Given the description of an element on the screen output the (x, y) to click on. 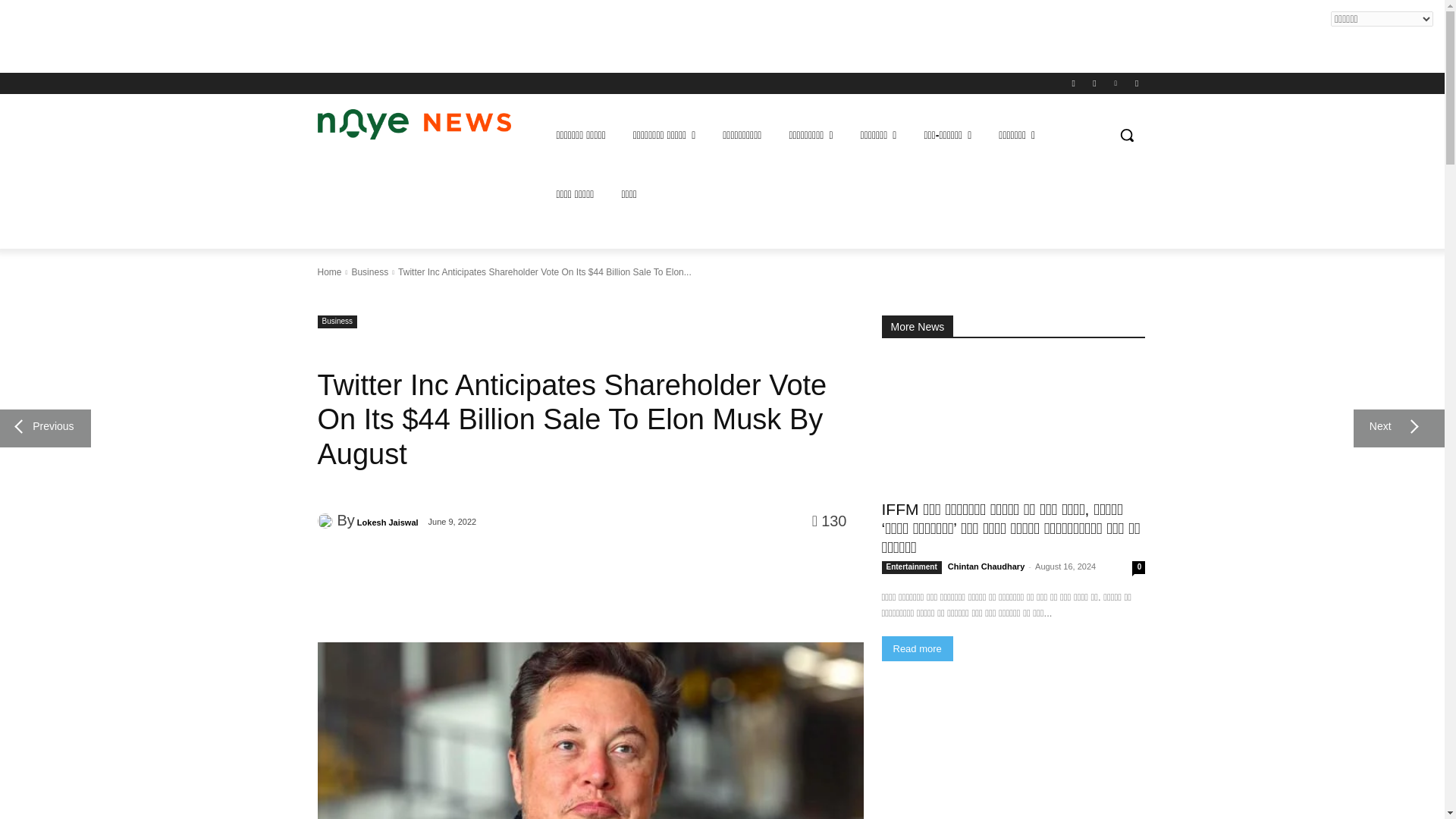
Facebook (1072, 82)
Youtube (1136, 82)
Twitter (1115, 82)
Instagram (1094, 82)
Advertisement (275, 33)
